Given the description of an element on the screen output the (x, y) to click on. 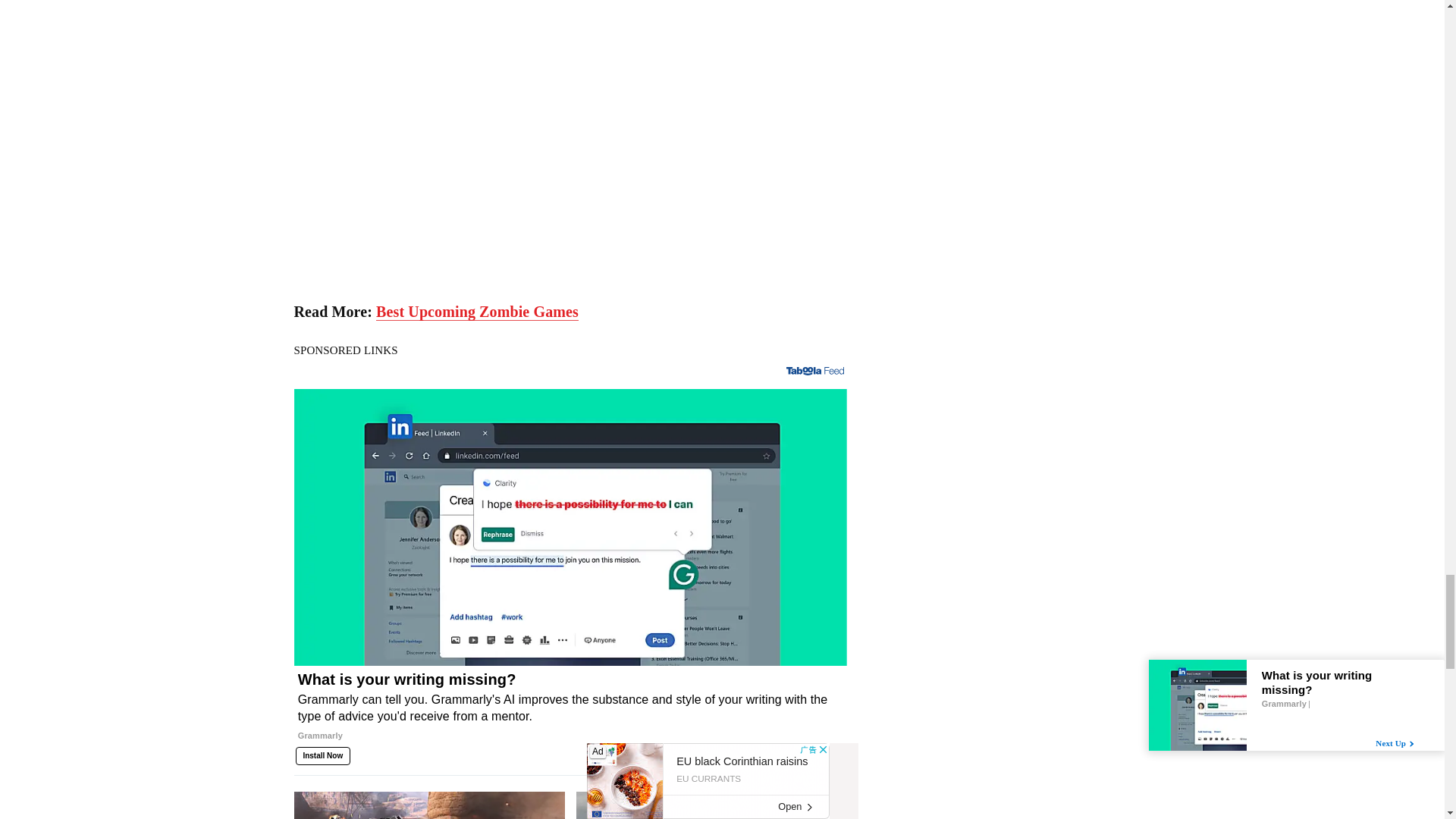
Sponsored (825, 752)
Install Now (322, 755)
Best Upcoming Zombie Games (476, 312)
What is your writing missing? (570, 712)
